Given the description of an element on the screen output the (x, y) to click on. 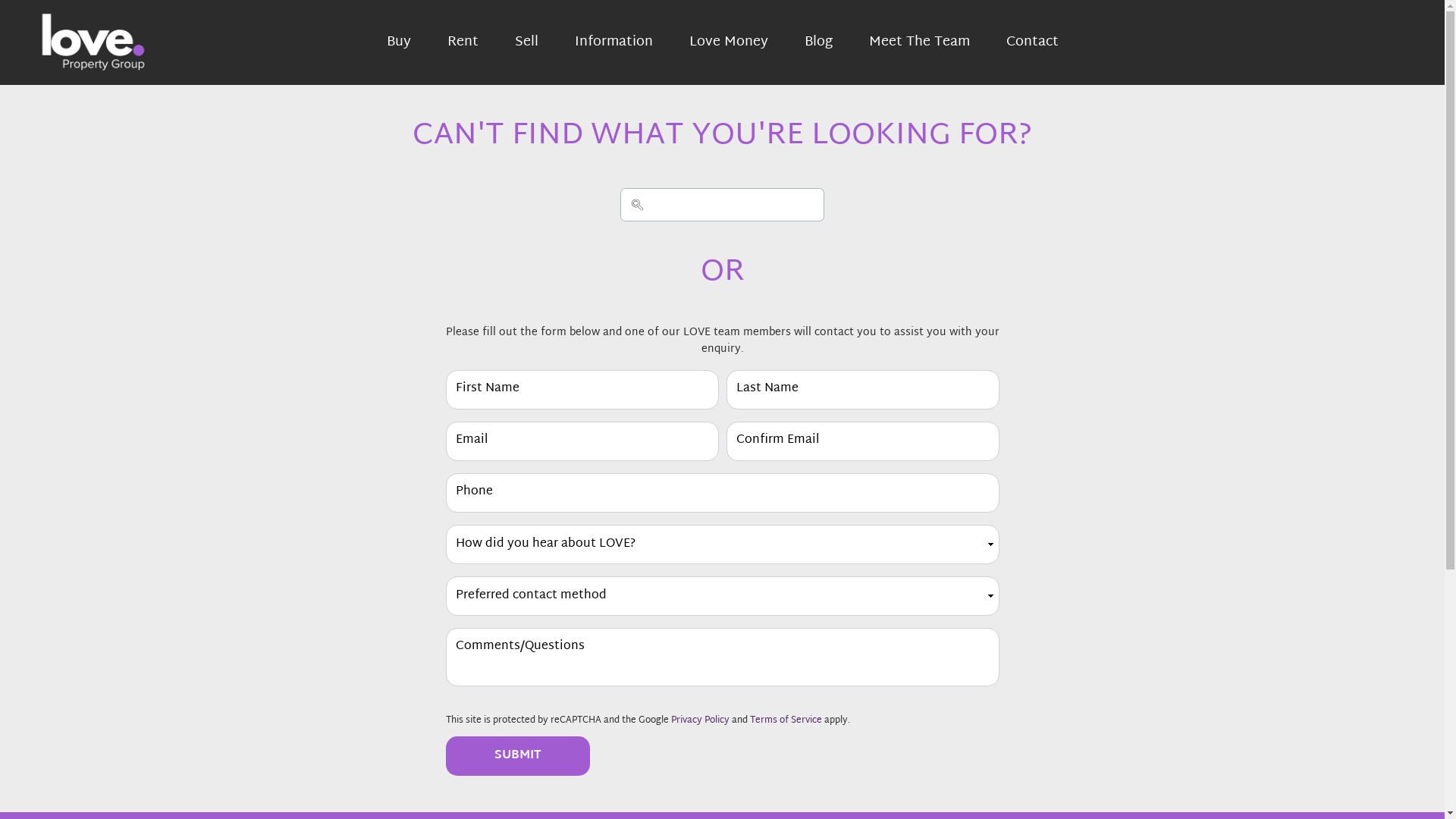
Information Element type: text (613, 42)
Privacy Policy Element type: text (699, 720)
Submit Element type: text (517, 755)
Rent Element type: text (462, 42)
Sell Element type: text (525, 42)
Contact Element type: text (1031, 42)
Terms of Service Element type: text (785, 720)
Meet The Team Element type: text (918, 42)
Love Money Element type: text (727, 42)
Buy Element type: text (398, 42)
Blog Element type: text (817, 42)
